Given the description of an element on the screen output the (x, y) to click on. 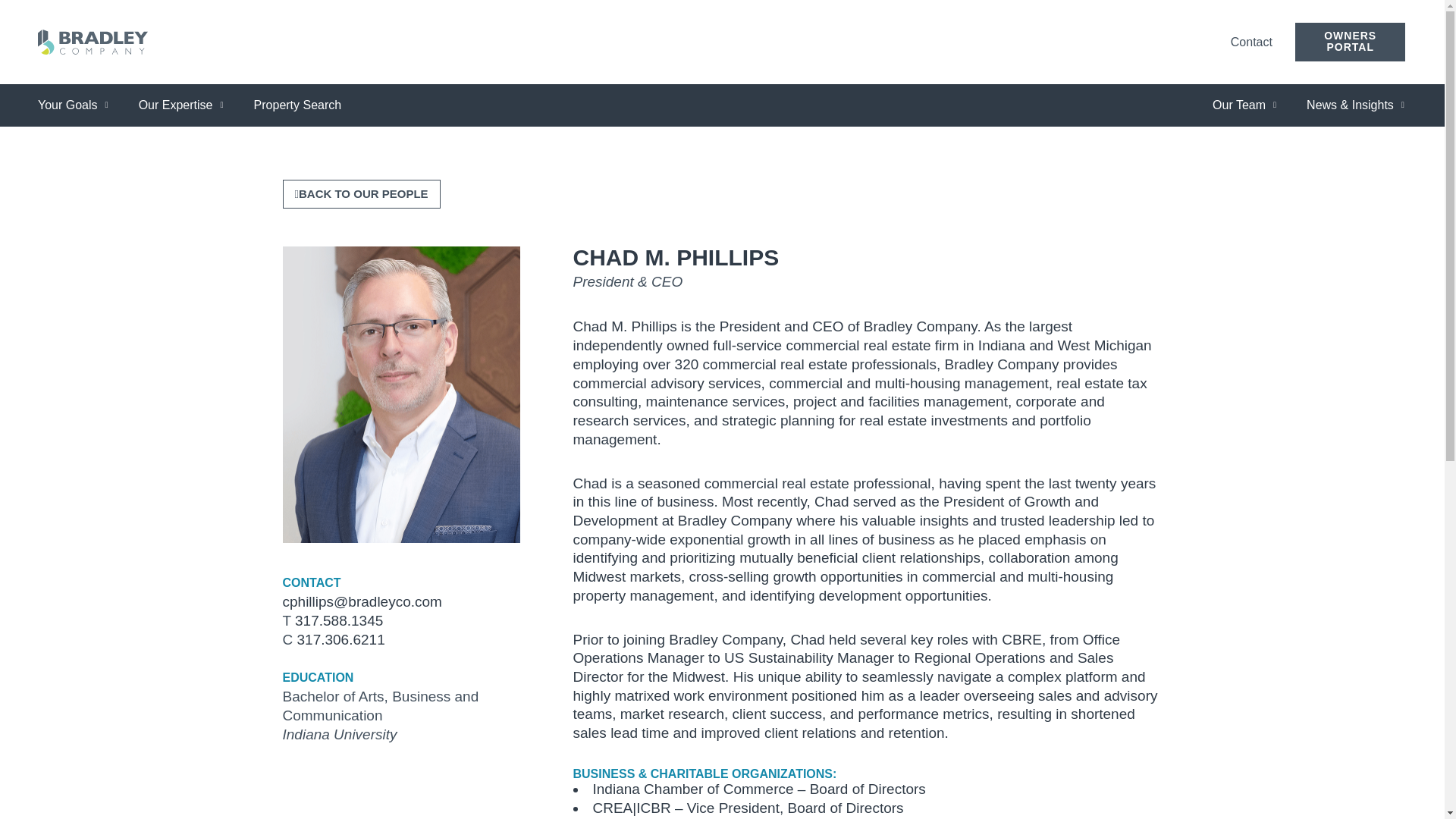
Our Expertise (180, 105)
OWNERS PORTAL (1350, 41)
Your Goals (73, 105)
Contact (1251, 42)
Property Search (297, 105)
Asset 2733 (92, 41)
